Given the description of an element on the screen output the (x, y) to click on. 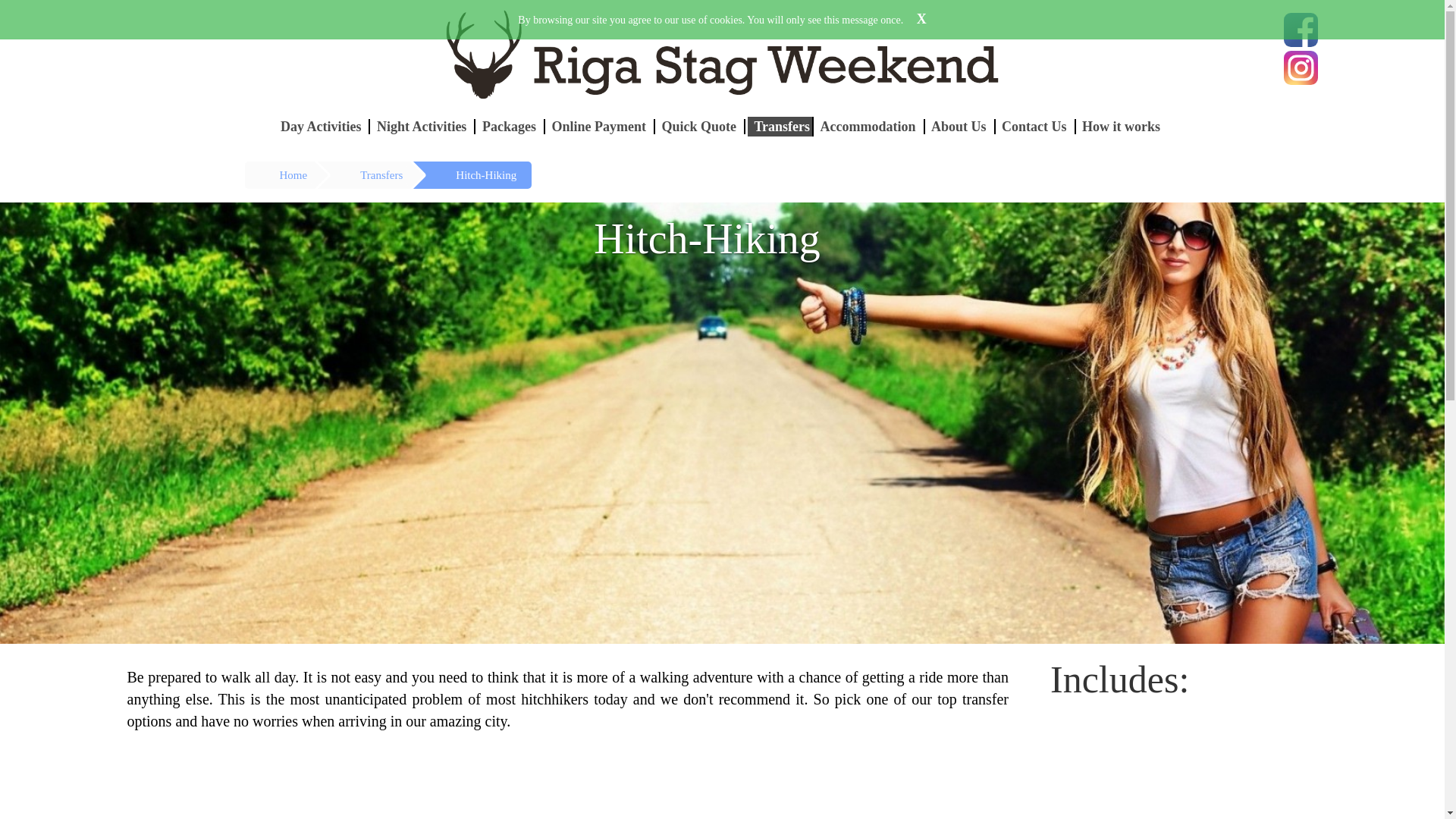
Day Activities (322, 126)
Online Payment (600, 126)
Riga Stag Weekend (721, 53)
Packages (511, 126)
Quick Quote (701, 126)
About Us (960, 126)
Night Activities (423, 126)
Contact Us (1035, 126)
Accommodation (869, 126)
Home (279, 175)
Hitch-Hiking (470, 175)
Transfers (780, 126)
Transfers (362, 175)
How it works (1122, 126)
